Given the description of an element on the screen output the (x, y) to click on. 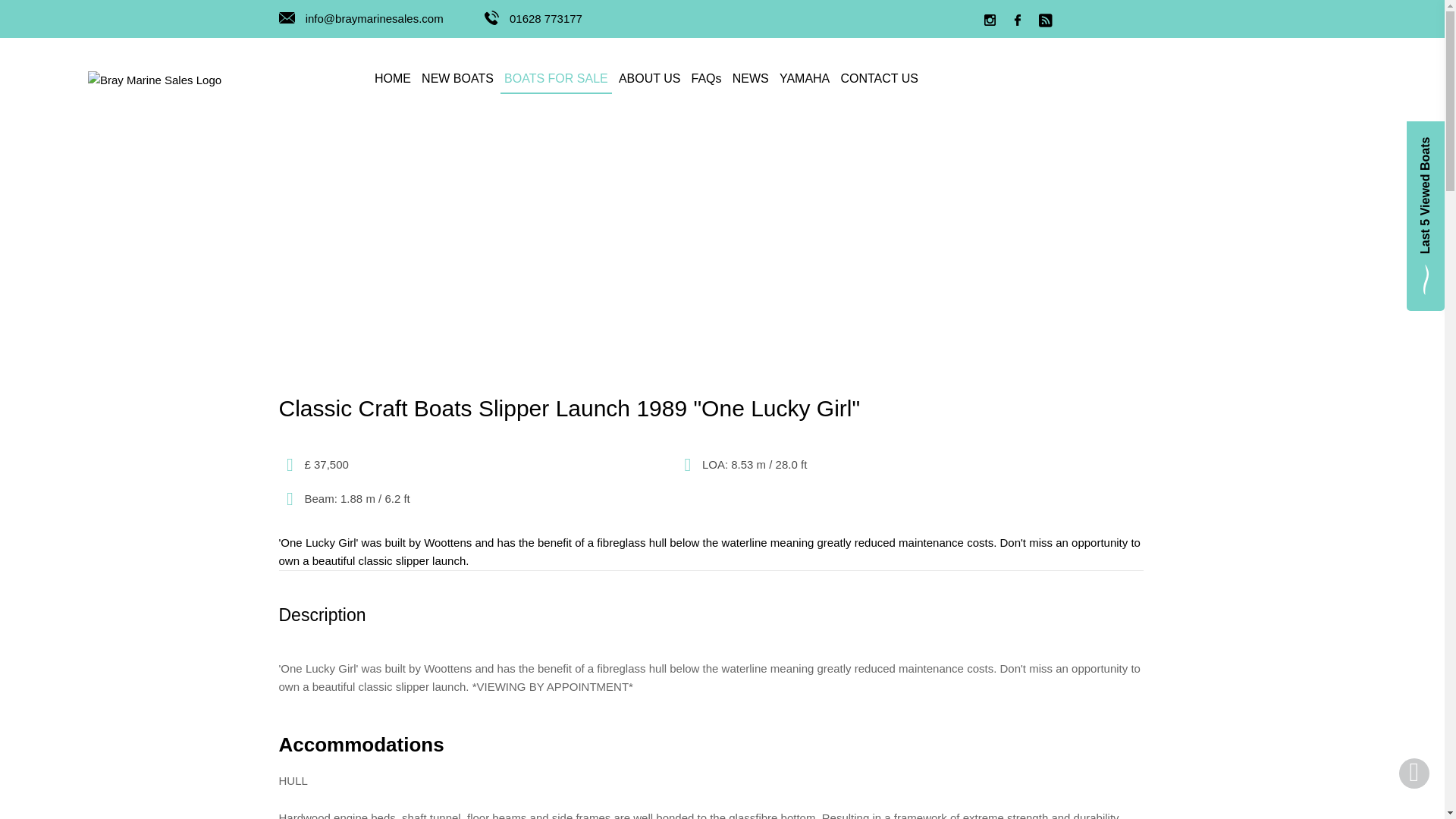
NEW BOATS (457, 79)
YAMAHA (804, 79)
FAQs (706, 79)
NEWS (751, 79)
BOATS FOR SALE (555, 79)
HOME (392, 79)
CONTACT US (878, 79)
ABOUT US (649, 79)
01628 773177 (533, 18)
